Given the description of an element on the screen output the (x, y) to click on. 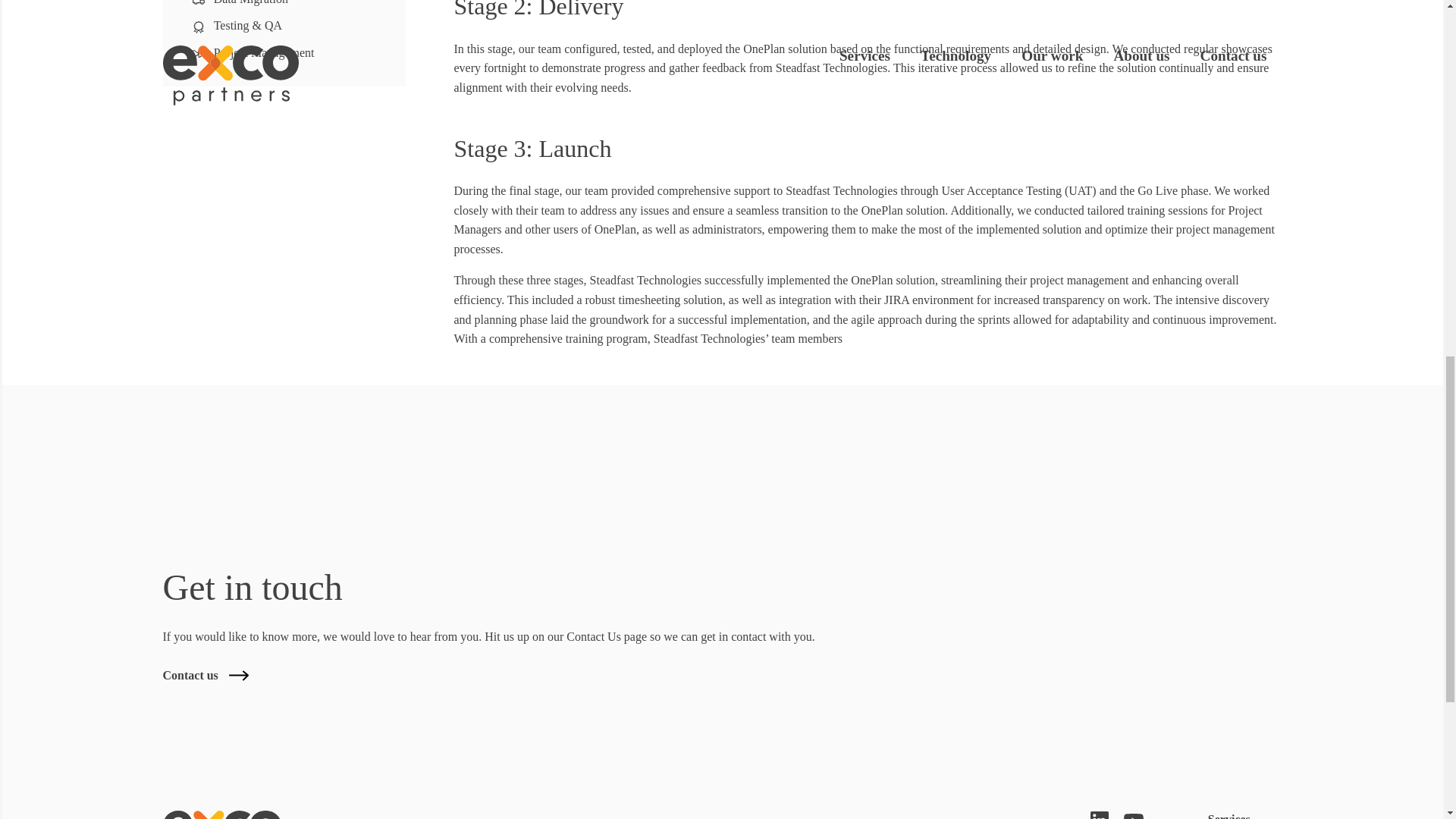
Contact us (204, 675)
Contact us (204, 675)
Services (1229, 816)
